Given the description of an element on the screen output the (x, y) to click on. 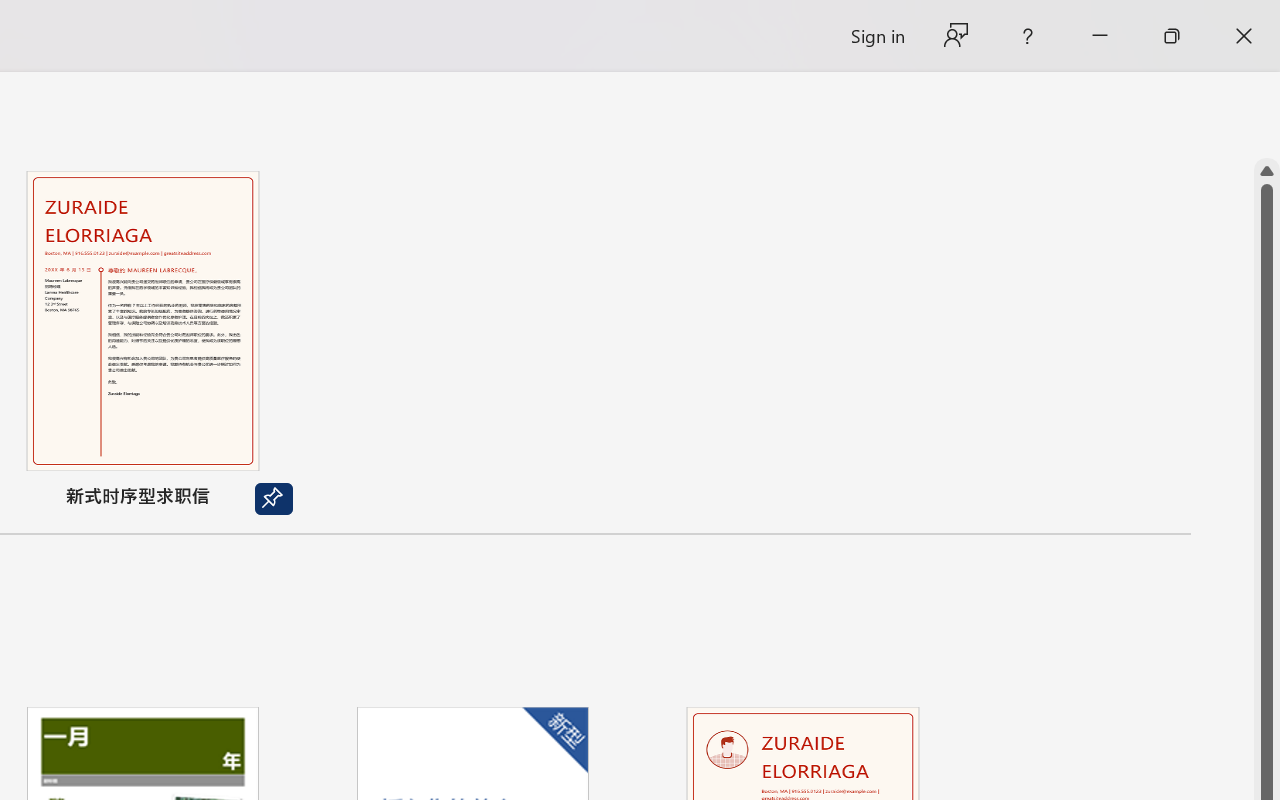
Line up (1267, 171)
Unpin from list (273, 499)
